Given the description of an element on the screen output the (x, y) to click on. 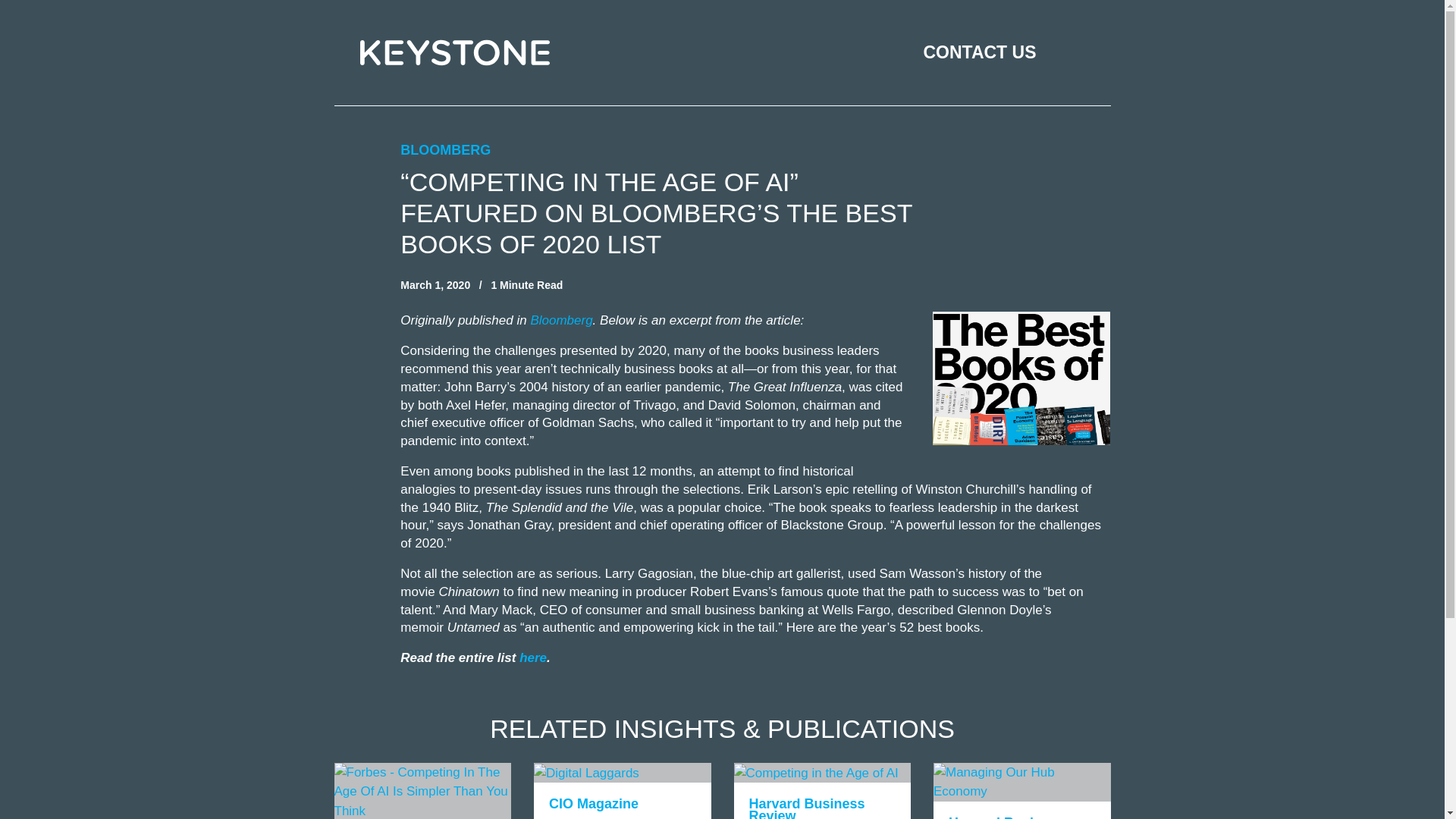
David Solomon (1021, 790)
Bloomberg (750, 405)
here (560, 319)
Jonathan Gray (533, 657)
HBR: Managing Our Hub Economy (508, 524)
Larry Gagosian (1021, 790)
Keystone (649, 573)
CONTACT US (453, 52)
